Given the description of an element on the screen output the (x, y) to click on. 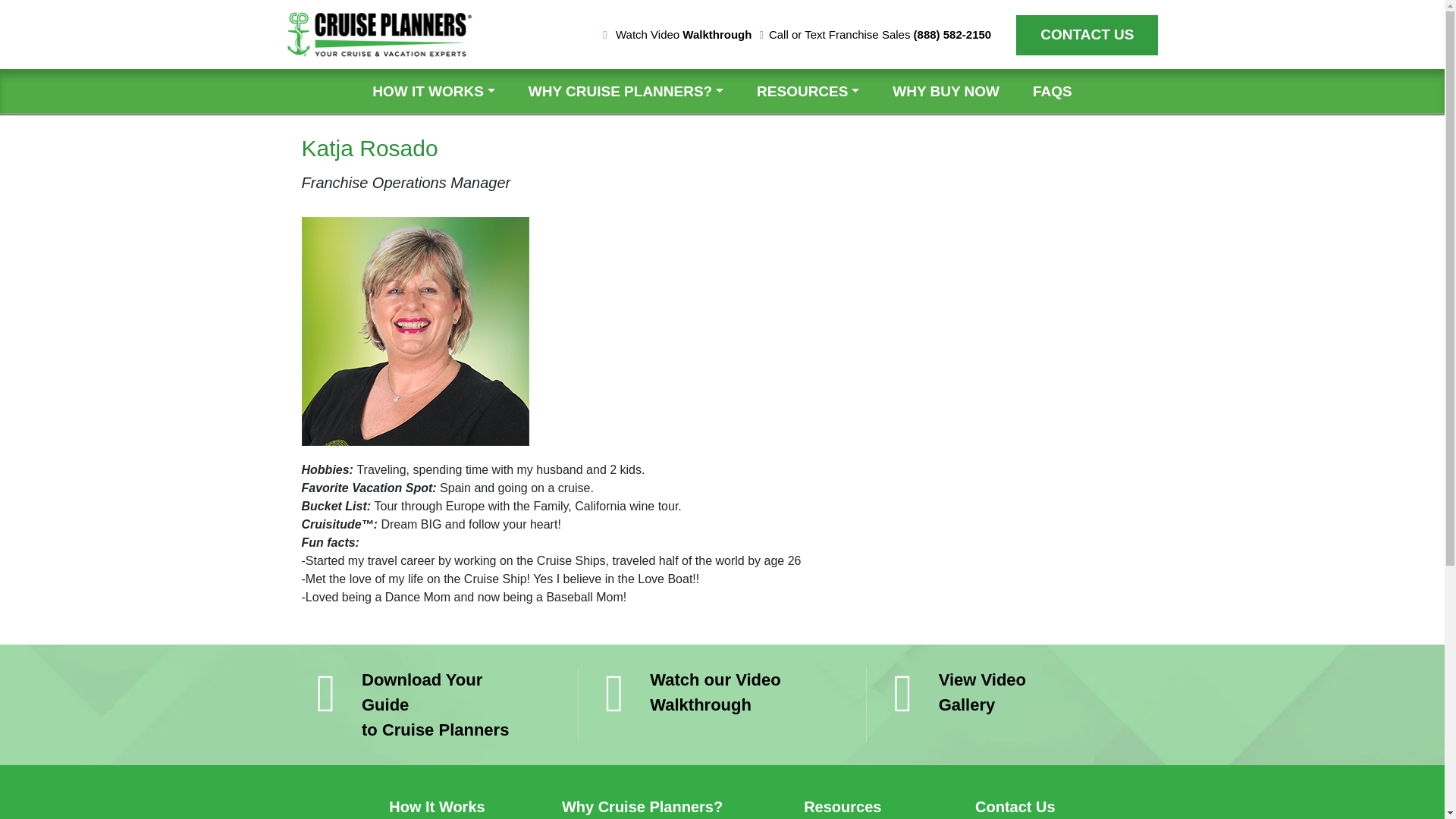
Watch Video Walkthrough (676, 35)
RESOURCES (807, 90)
FAQS (1052, 90)
WHY CRUISE PLANNERS? (625, 90)
How It Works (436, 806)
HOW IT WORKS (433, 90)
CONTACT US (1086, 35)
Contact Us (1086, 35)
WHY BUY NOW (946, 90)
